Given the description of an element on the screen output the (x, y) to click on. 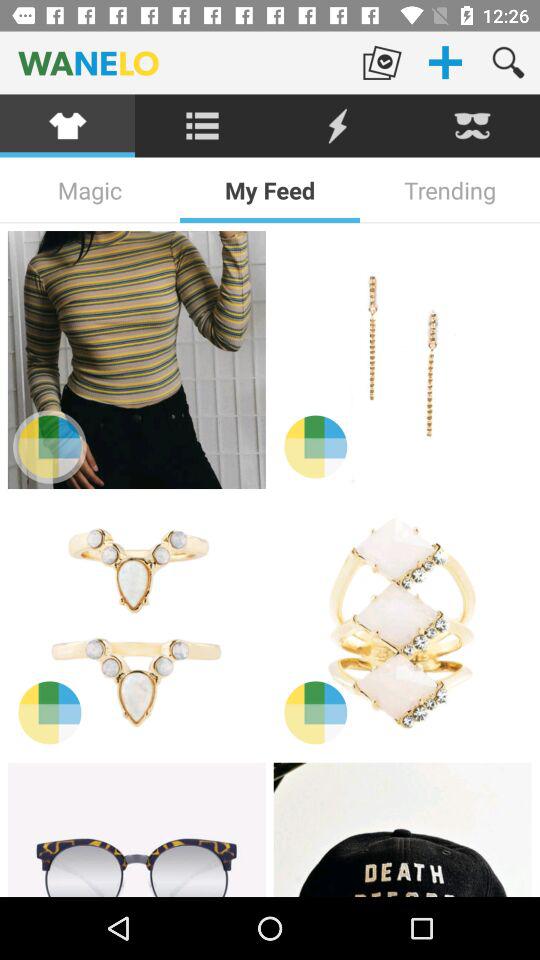
views a product (402, 360)
